Given the description of an element on the screen output the (x, y) to click on. 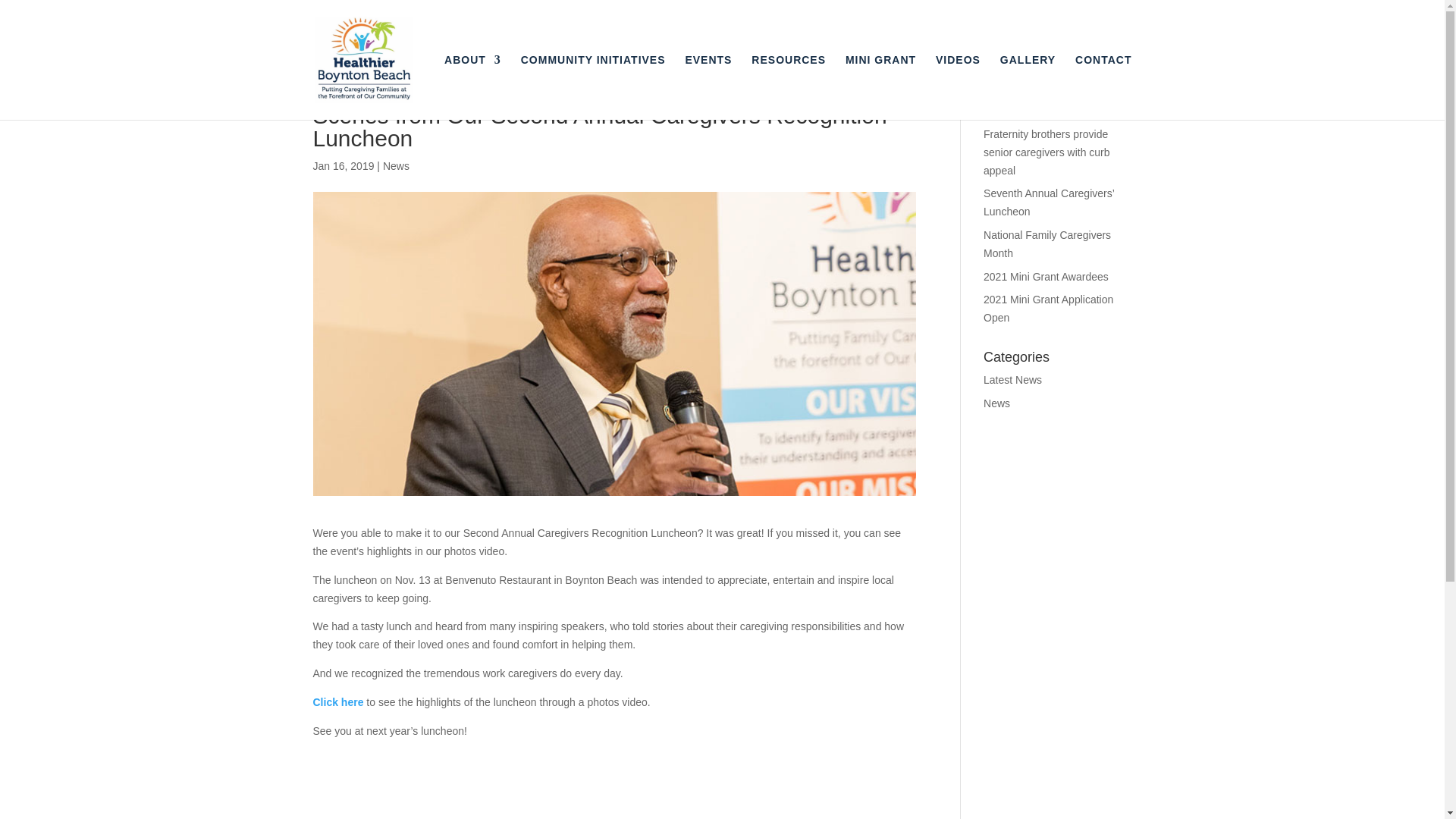
2021 Mini Grant Application Open (1048, 308)
News (395, 165)
Take Action Now! (82, 13)
Click here (337, 702)
COMMUNITY INITIATIVES (593, 86)
News (997, 403)
RESOURCES (788, 86)
Latest News (1013, 379)
2021 Mini Grant Awardees (1046, 276)
